Given the description of an element on the screen output the (x, y) to click on. 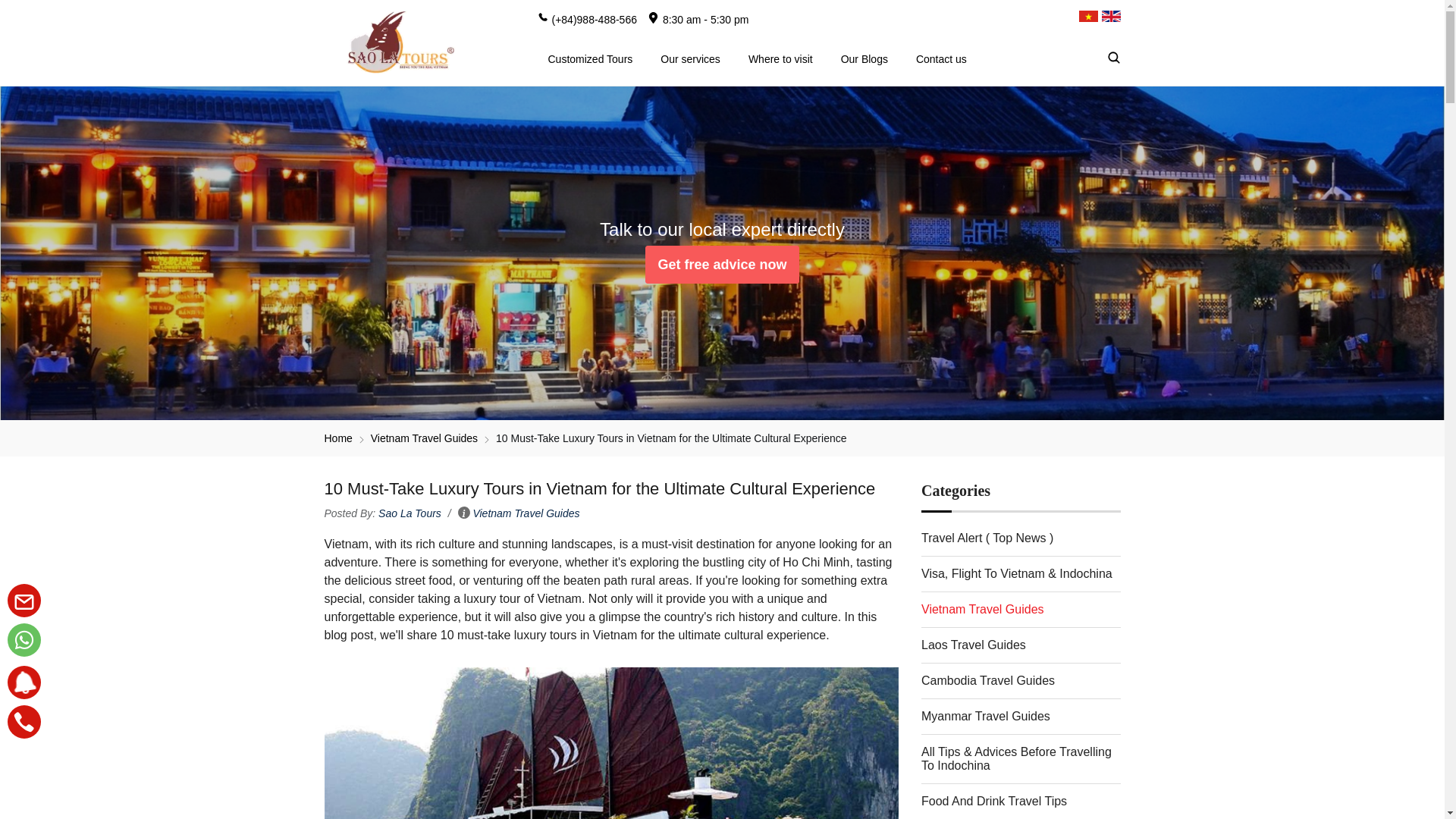
Home (338, 438)
Saolatours (396, 43)
Our services (690, 57)
Customized Tours (591, 57)
Saolatours (338, 438)
Contact us (721, 264)
Vietnam Travel Guides (525, 512)
8:30 am - 5:30 pm (698, 17)
Vietnam Travel Guides (424, 438)
search (1136, 57)
Vietnam Travel Guides (424, 438)
Vietnam Travel Guides (525, 512)
Our Blogs (864, 57)
Get free advice now (721, 264)
Contact us (941, 57)
